Given the description of an element on the screen output the (x, y) to click on. 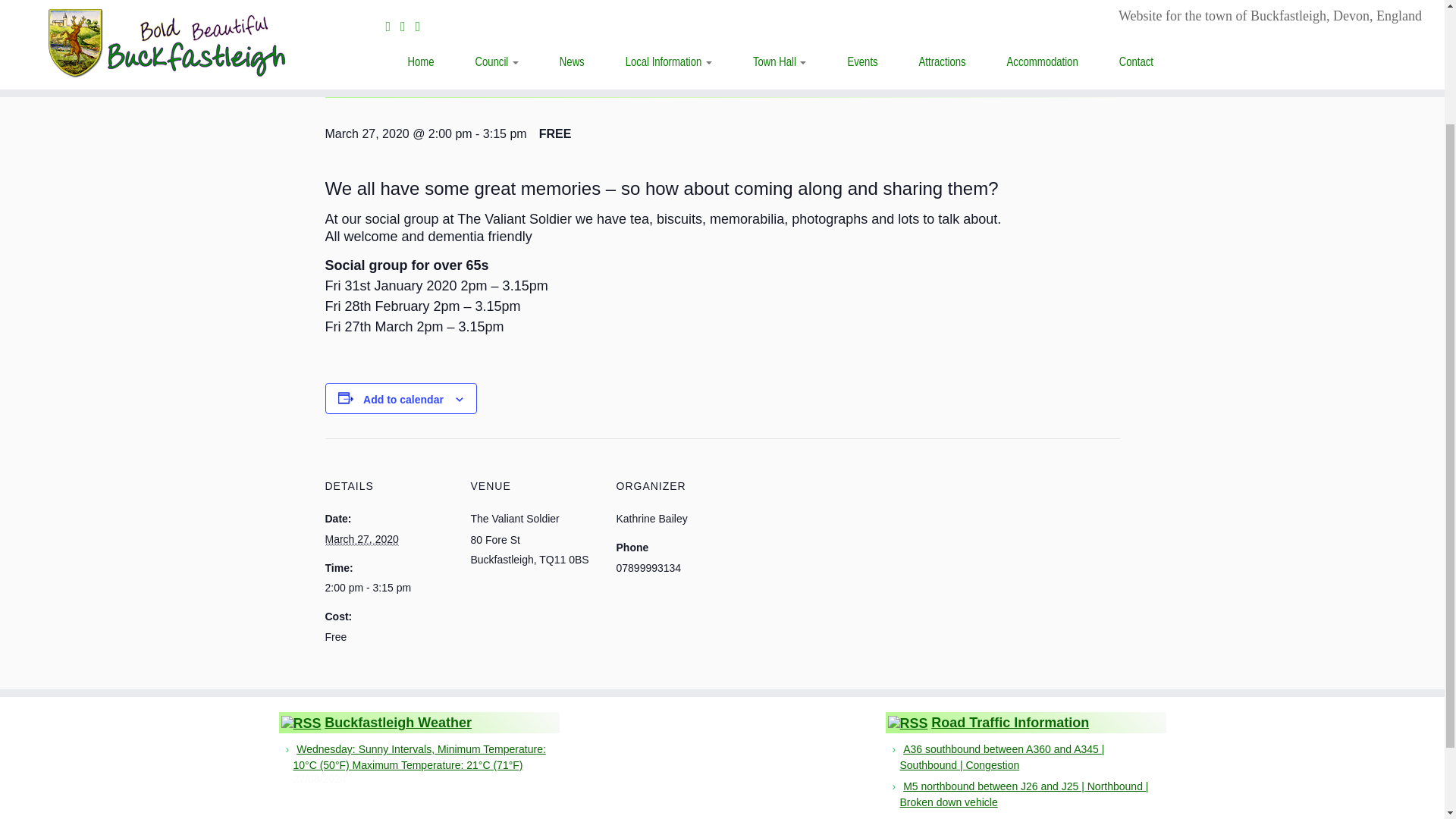
2020-03-27 (360, 539)
Add to calendar (403, 399)
2020-03-27 (387, 587)
